Given the description of an element on the screen output the (x, y) to click on. 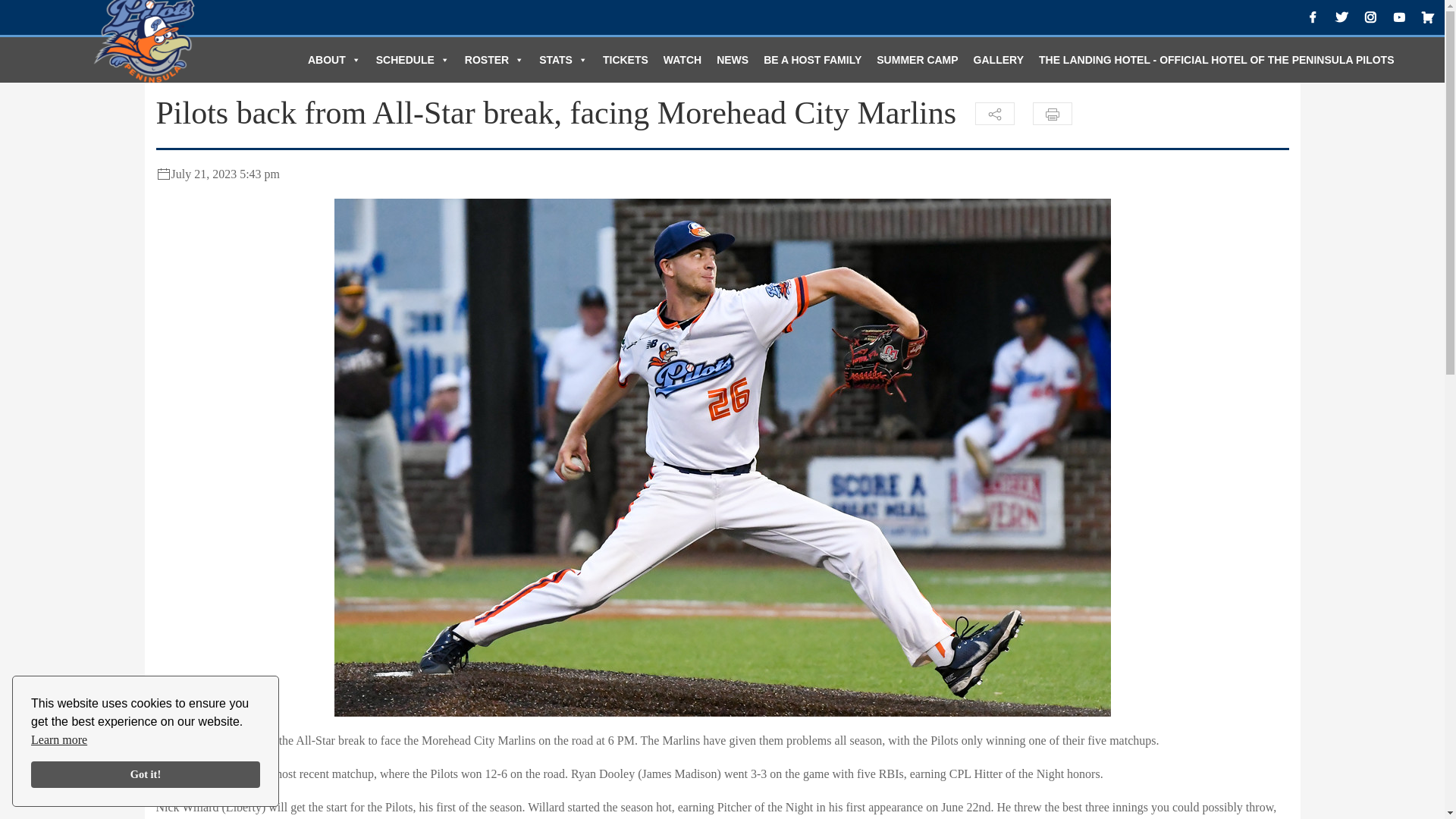
TICKETS (625, 60)
ROSTER (494, 60)
NEWS (732, 60)
STATS (563, 60)
ABOUT (333, 60)
SUMMER CAMP (917, 60)
Got it! (145, 774)
SCHEDULE (412, 60)
Learn more (58, 740)
BE A HOST FAMILY (812, 60)
WATCH (682, 60)
